Given the description of an element on the screen output the (x, y) to click on. 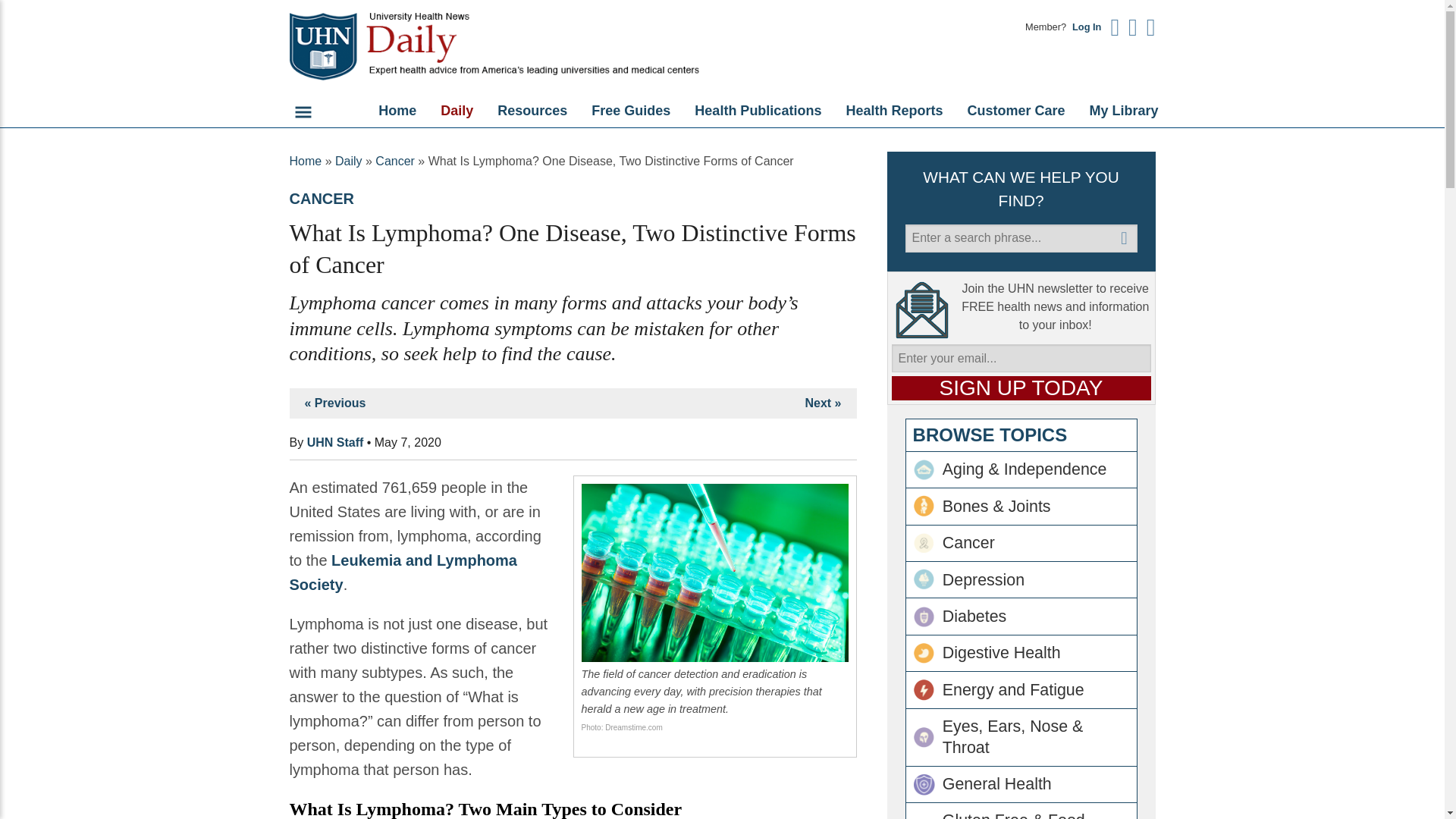
University Health News (531, 47)
Read more about Daily (456, 111)
Read more about Resources (531, 111)
Read more about Home (397, 111)
Sign Up Today (1021, 387)
Read more about Free Guides (630, 111)
Log In (1085, 27)
